Given the description of an element on the screen output the (x, y) to click on. 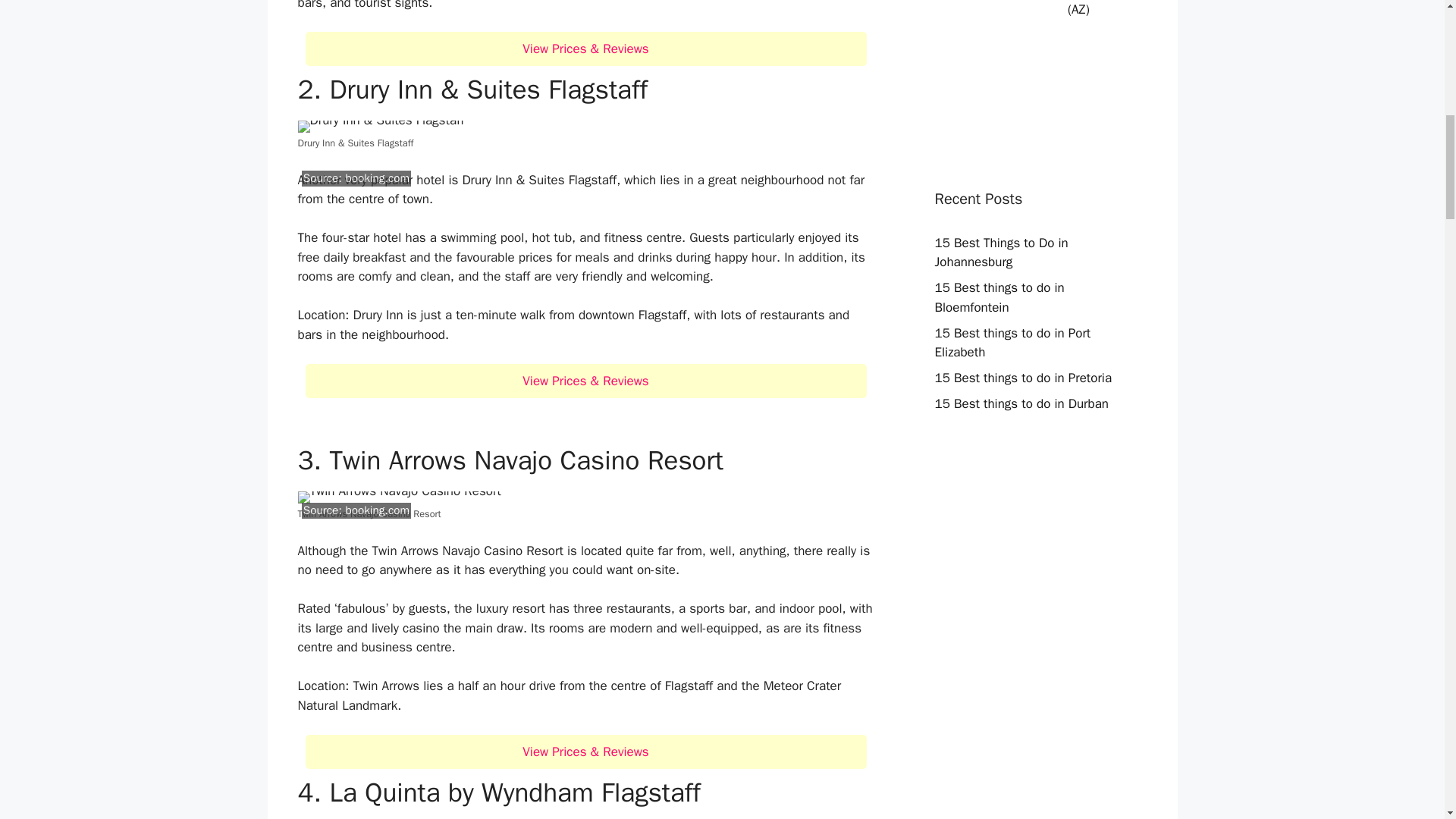
booking.com (377, 177)
booking.com (377, 509)
